Given the description of an element on the screen output the (x, y) to click on. 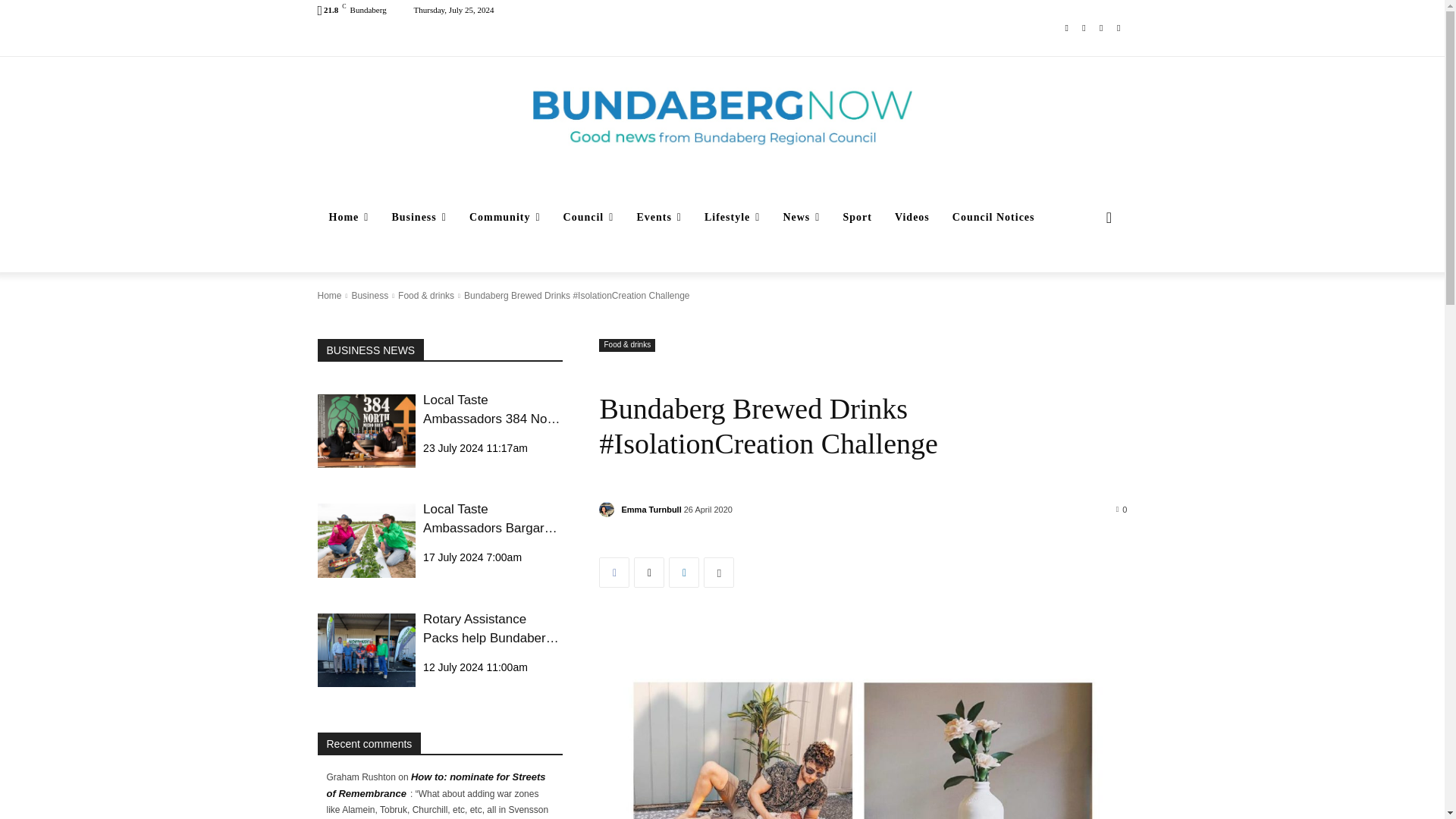
Youtube (1117, 27)
View all posts in Business (369, 295)
Bundaberg Now (721, 117)
Twitter (1101, 27)
Home (348, 217)
Instagram (1084, 27)
Bundaberg Now (721, 117)
Facebook (1066, 27)
